Given the description of an element on the screen output the (x, y) to click on. 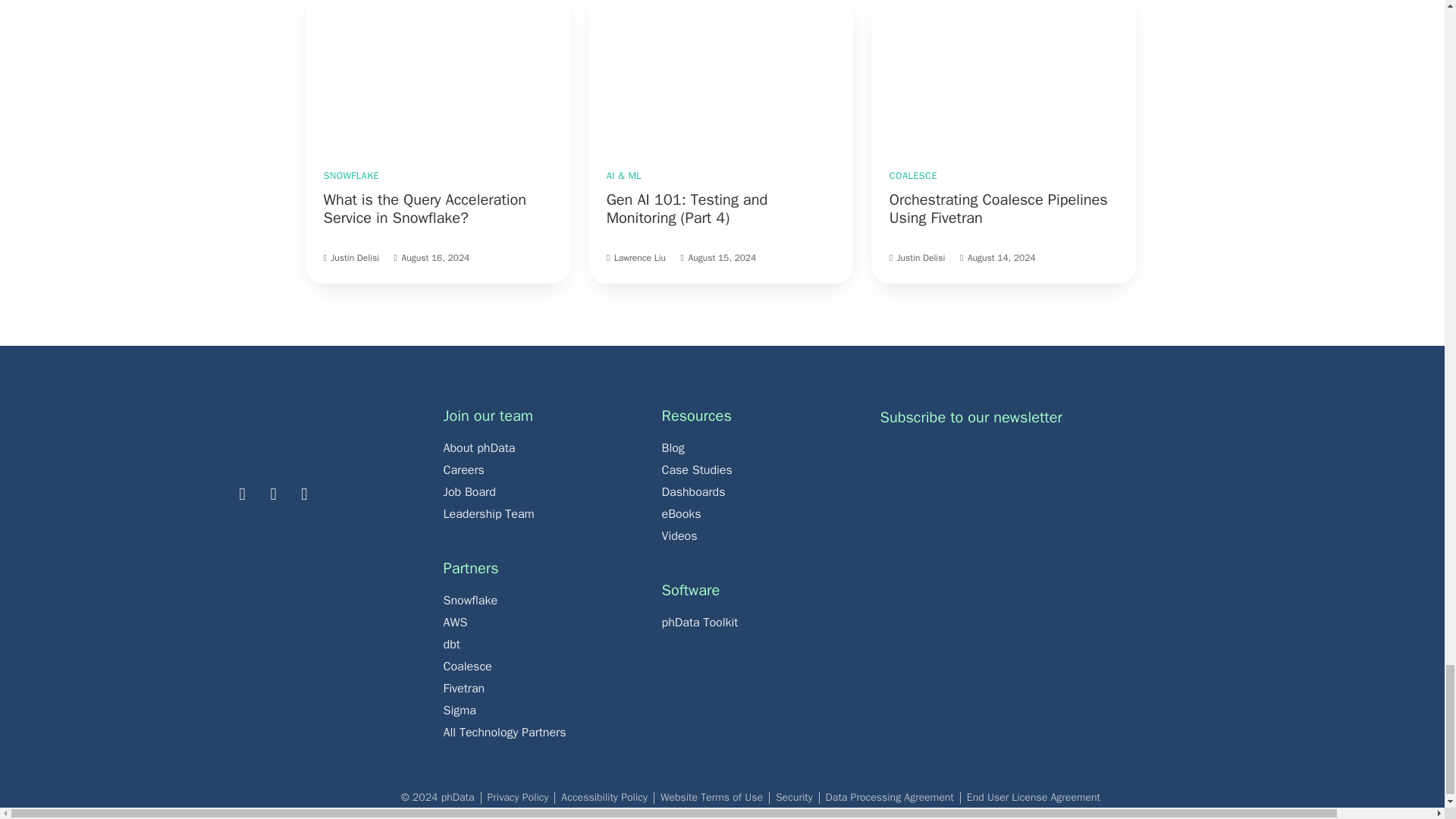
Posts by Lawrence Liu (639, 257)
Posts by Justin Delisi (920, 257)
Posts by Justin Delisi (354, 257)
